Given the description of an element on the screen output the (x, y) to click on. 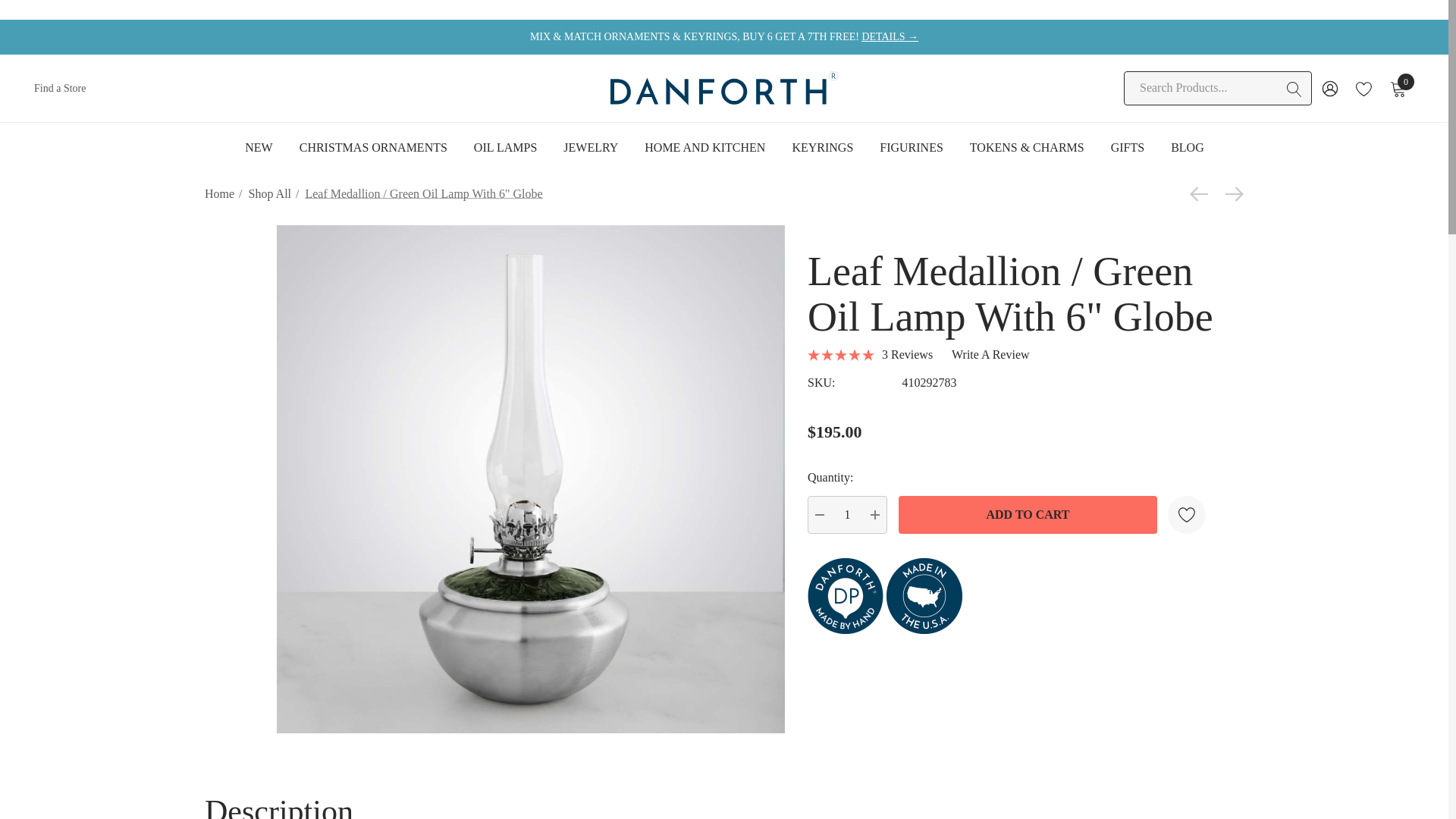
1 (847, 514)
Danforth Pewter (724, 88)
ACCOUNT ACCOUNT (1330, 88)
JEWELRY (590, 148)
WISH LISTS WISH LISTS (1362, 88)
Find a Store (59, 87)
Add to Cart (1027, 514)
YOUR CART YOUR CART (1398, 88)
OIL LAMPS (505, 147)
